Given the description of an element on the screen output the (x, y) to click on. 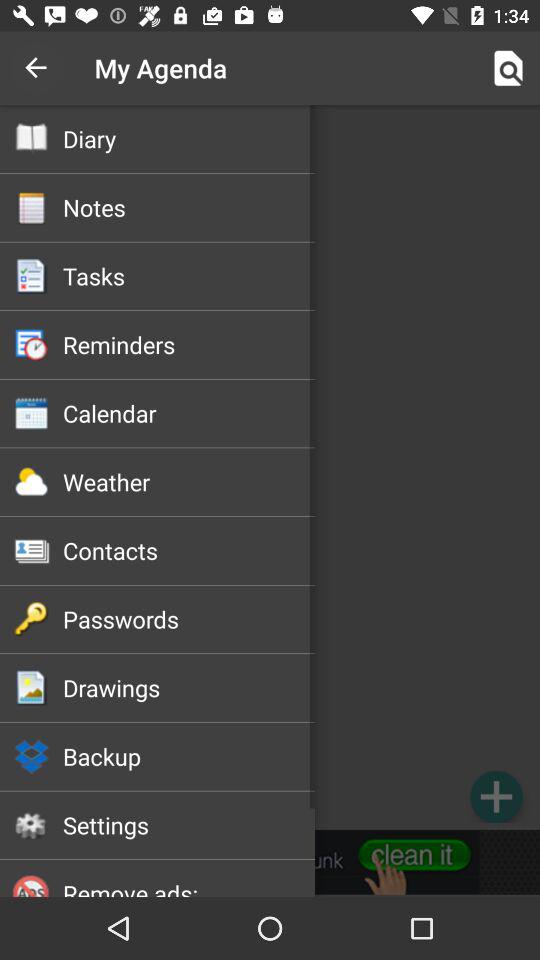
my personal agenda (269, 467)
